Given the description of an element on the screen output the (x, y) to click on. 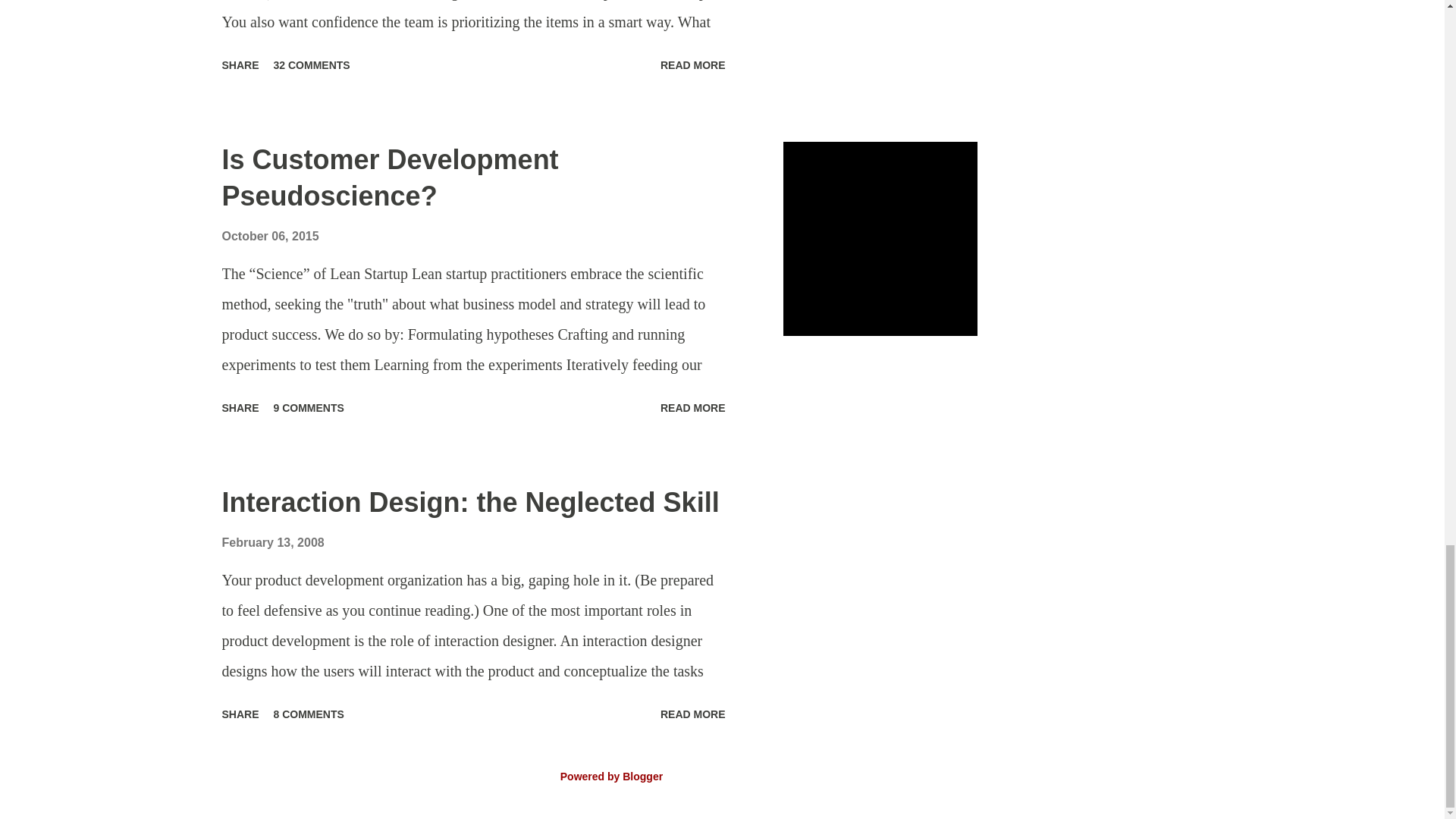
October 06, 2015 (269, 236)
READ MORE (692, 64)
8 COMMENTS (308, 713)
SHARE (239, 407)
SHARE (239, 64)
9 COMMENTS (308, 407)
February 13, 2008 (272, 542)
32 COMMENTS (311, 64)
READ MORE (692, 713)
SHARE (239, 713)
READ MORE (692, 407)
Interaction Design: the Neglected Skill (470, 501)
Is Customer Development Pseudoscience? (389, 177)
